Given the description of an element on the screen output the (x, y) to click on. 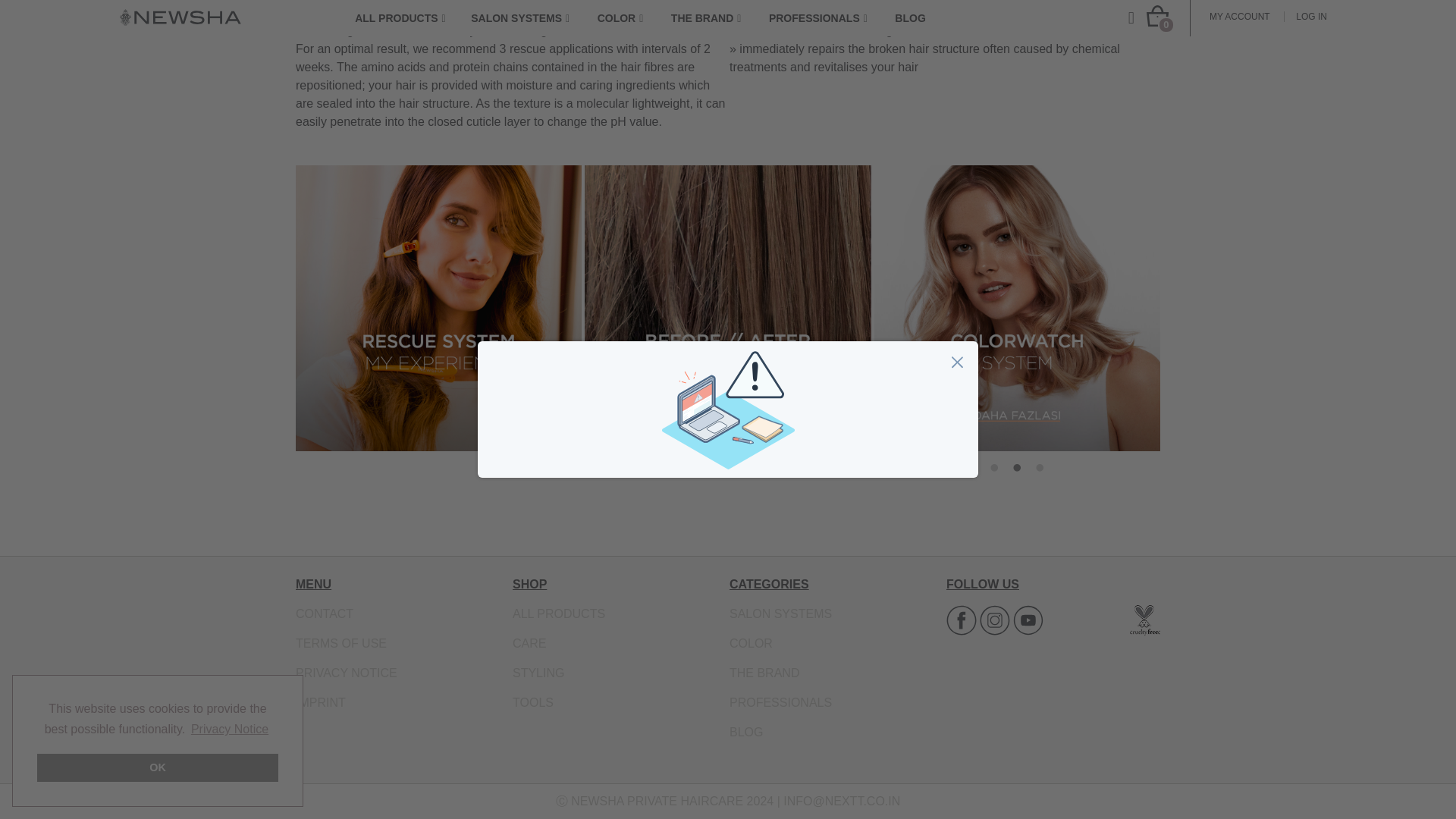
Privacy Notice (229, 7)
OK (157, 41)
